Given the description of an element on the screen output the (x, y) to click on. 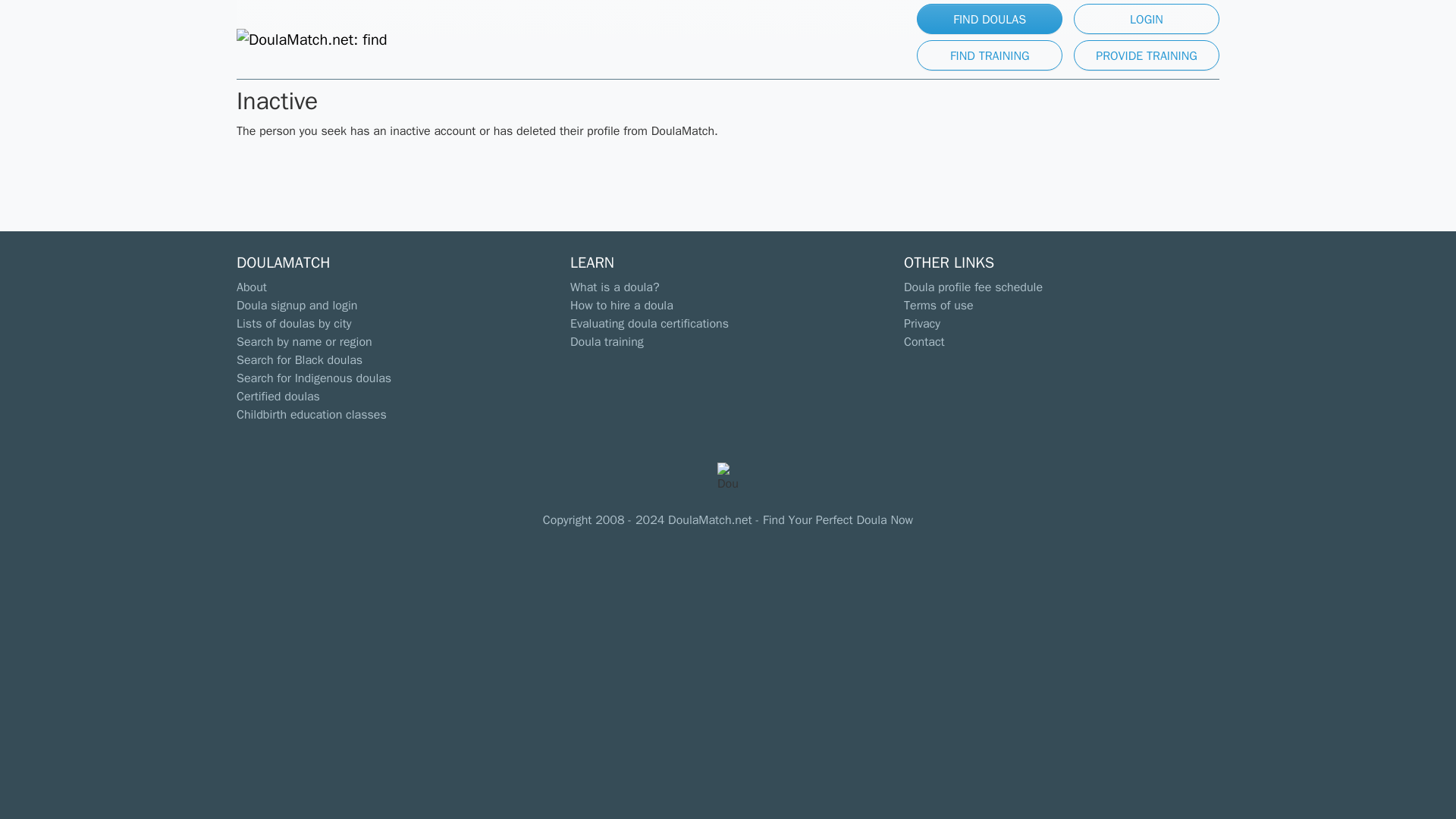
Childbirth education classes (311, 414)
Doula profile fee schedule (973, 287)
FIND DOULAS (989, 19)
Search by name or region (303, 341)
Doula training (606, 341)
Certified doulas (277, 396)
Contact (924, 341)
Search for Black doulas (298, 359)
How to hire a doula (621, 305)
Terms of use (939, 305)
